Given the description of an element on the screen output the (x, y) to click on. 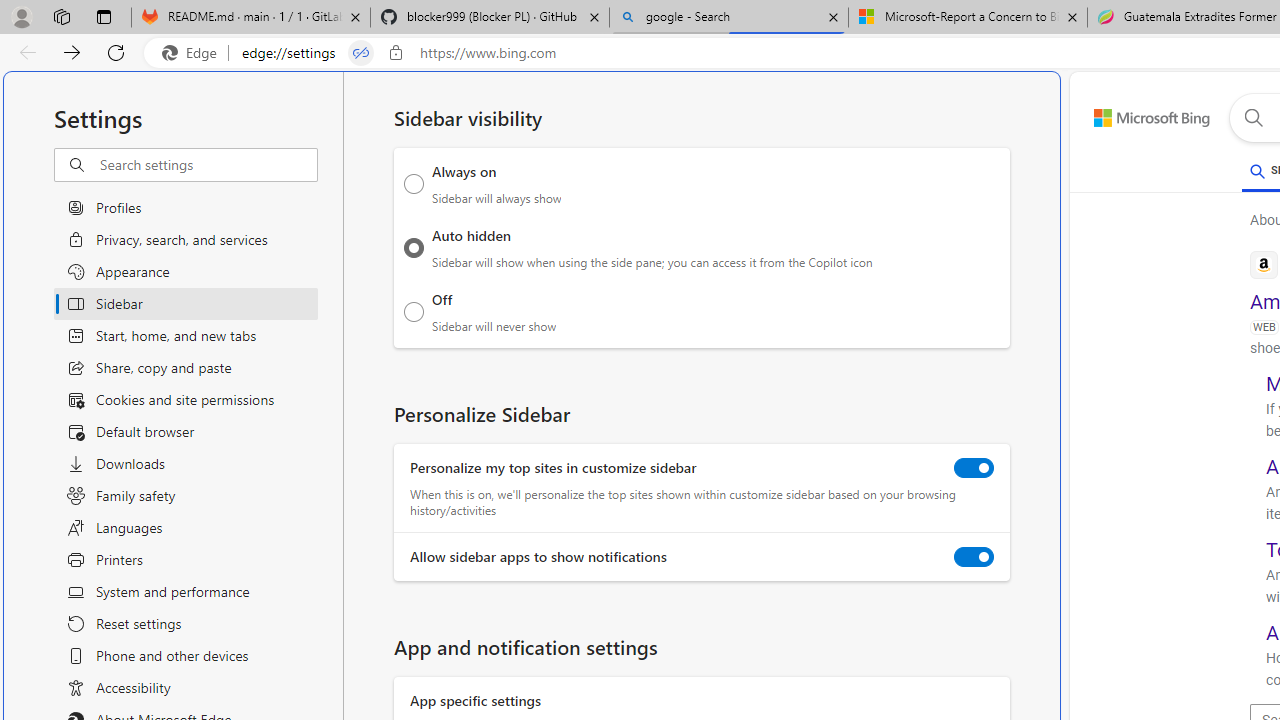
Always on Sidebar will always show (413, 183)
Allow sidebar apps to show notifications (973, 557)
Personalize my top sites in customize sidebar (973, 467)
Off Sidebar will never show (413, 311)
Tabs in split screen (360, 53)
